Given the description of an element on the screen output the (x, y) to click on. 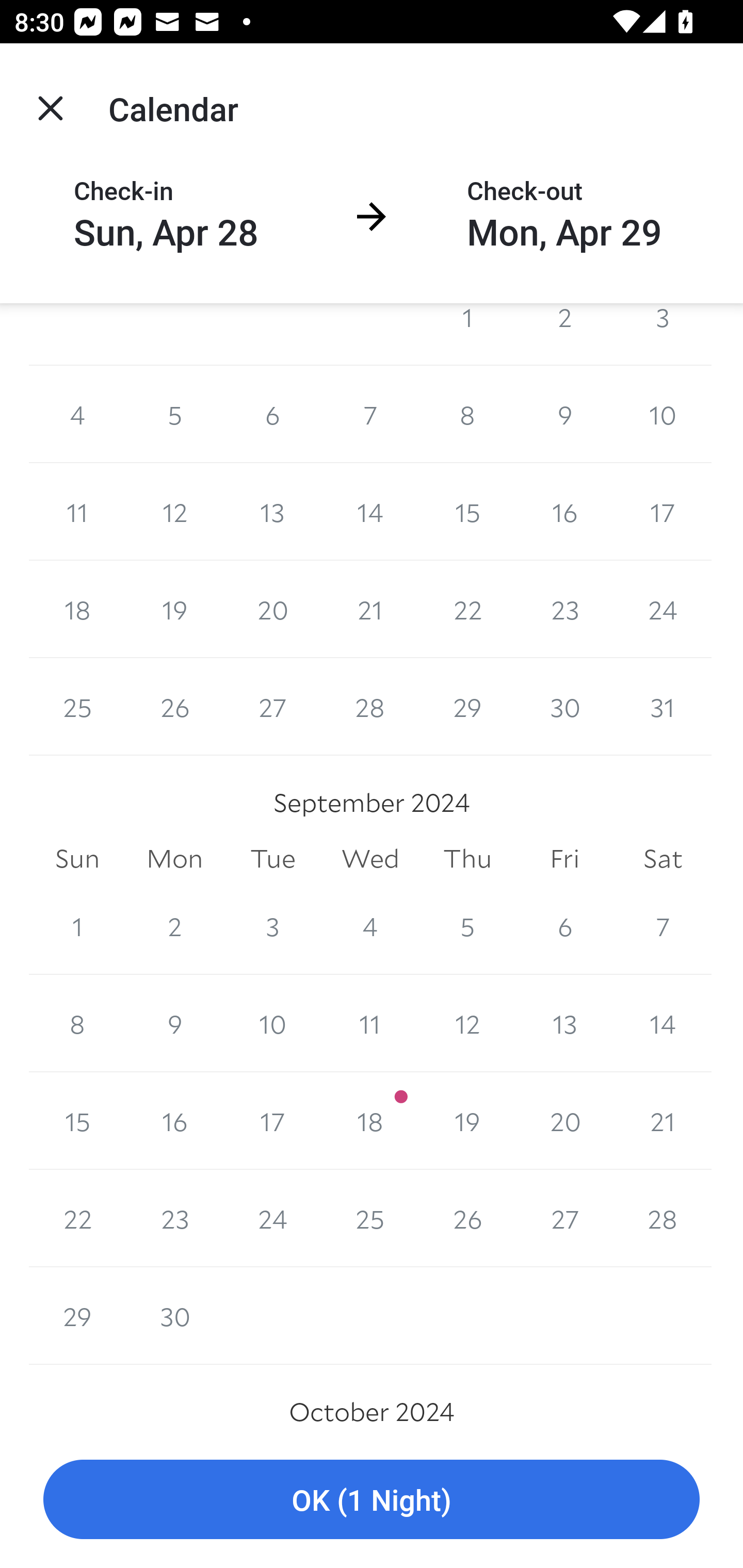
1 1 August 2024 (467, 333)
2 2 August 2024 (564, 333)
3 3 August 2024 (662, 333)
4 4 August 2024 (77, 413)
5 5 August 2024 (174, 413)
6 6 August 2024 (272, 413)
7 7 August 2024 (370, 413)
8 8 August 2024 (467, 413)
9 9 August 2024 (564, 413)
10 10 August 2024 (662, 413)
11 11 August 2024 (77, 511)
12 12 August 2024 (174, 511)
13 13 August 2024 (272, 511)
14 14 August 2024 (370, 511)
15 15 August 2024 (467, 511)
16 16 August 2024 (564, 511)
17 17 August 2024 (662, 511)
18 18 August 2024 (77, 609)
19 19 August 2024 (174, 609)
20 20 August 2024 (272, 609)
21 21 August 2024 (370, 609)
22 22 August 2024 (467, 609)
23 23 August 2024 (564, 609)
24 24 August 2024 (662, 609)
25 25 August 2024 (77, 706)
26 26 August 2024 (174, 706)
27 27 August 2024 (272, 706)
28 28 August 2024 (370, 706)
29 29 August 2024 (467, 706)
30 30 August 2024 (564, 706)
31 31 August 2024 (662, 706)
Sun (77, 859)
Mon (174, 859)
Tue (272, 859)
Wed (370, 859)
Thu (467, 859)
Fri (564, 859)
Sat (662, 859)
1 1 September 2024 (77, 926)
2 2 September 2024 (174, 926)
3 3 September 2024 (272, 926)
4 4 September 2024 (370, 926)
5 5 September 2024 (467, 926)
6 6 September 2024 (564, 926)
7 7 September 2024 (662, 926)
8 8 September 2024 (77, 1023)
9 9 September 2024 (174, 1023)
10 10 September 2024 (272, 1023)
11 11 September 2024 (370, 1023)
12 12 September 2024 (467, 1023)
13 13 September 2024 (564, 1023)
14 14 September 2024 (662, 1023)
15 15 September 2024 (77, 1120)
16 16 September 2024 (174, 1120)
17 17 September 2024 (272, 1120)
18 18 September 2024 (370, 1120)
19 19 September 2024 (467, 1120)
20 20 September 2024 (564, 1120)
21 21 September 2024 (662, 1120)
22 22 September 2024 (77, 1217)
23 23 September 2024 (174, 1217)
24 24 September 2024 (272, 1217)
25 25 September 2024 (370, 1217)
26 26 September 2024 (467, 1217)
27 27 September 2024 (564, 1217)
28 28 September 2024 (662, 1217)
29 29 September 2024 (77, 1315)
30 30 September 2024 (174, 1315)
OK (1 Night) (371, 1499)
